Given the description of an element on the screen output the (x, y) to click on. 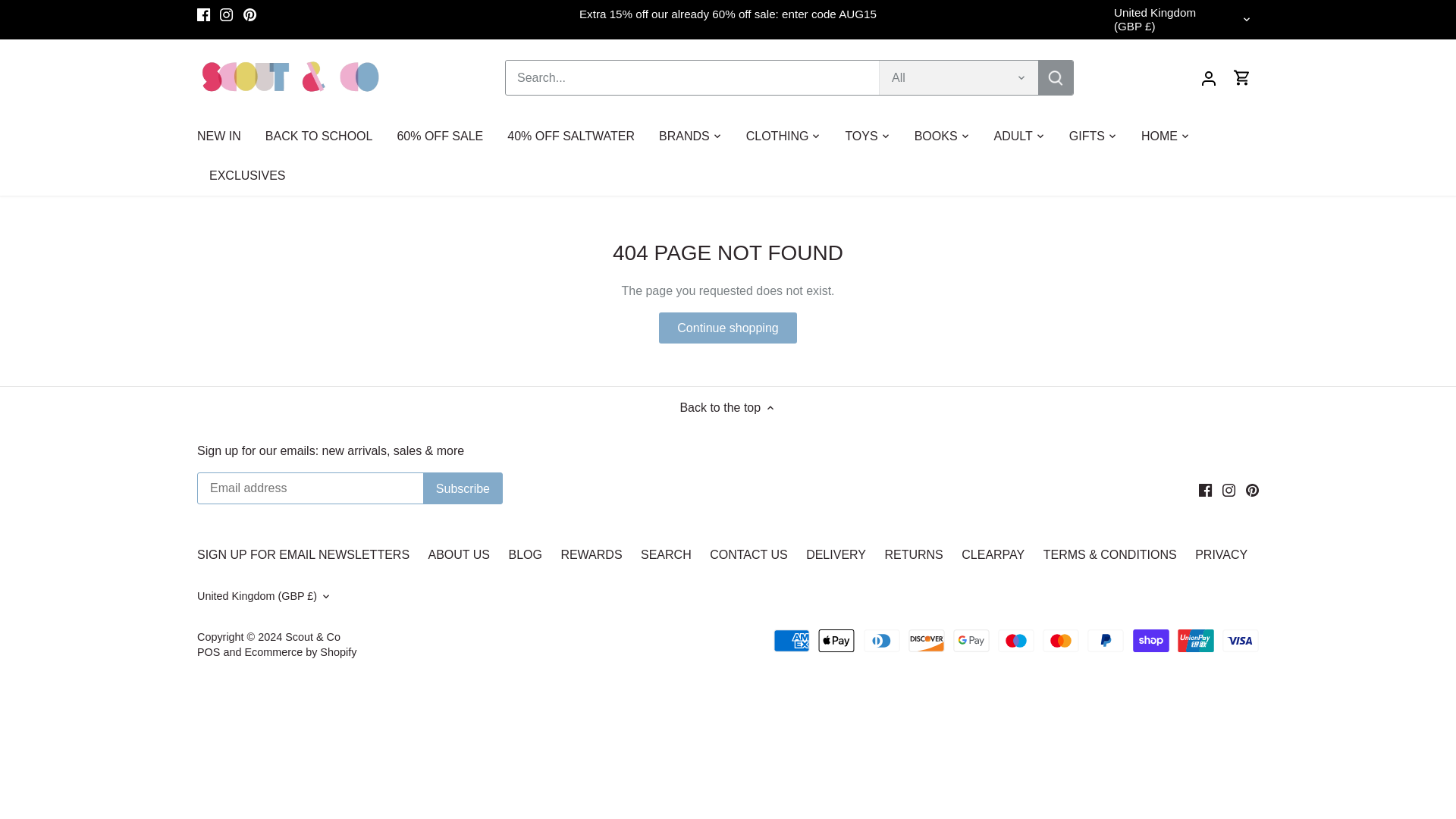
Facebook (202, 14)
Instagram (1228, 490)
Facebook (1204, 490)
Subscribe (462, 488)
Pinterest (249, 14)
Instagram (225, 14)
Pinterest (1252, 490)
